Given the description of an element on the screen output the (x, y) to click on. 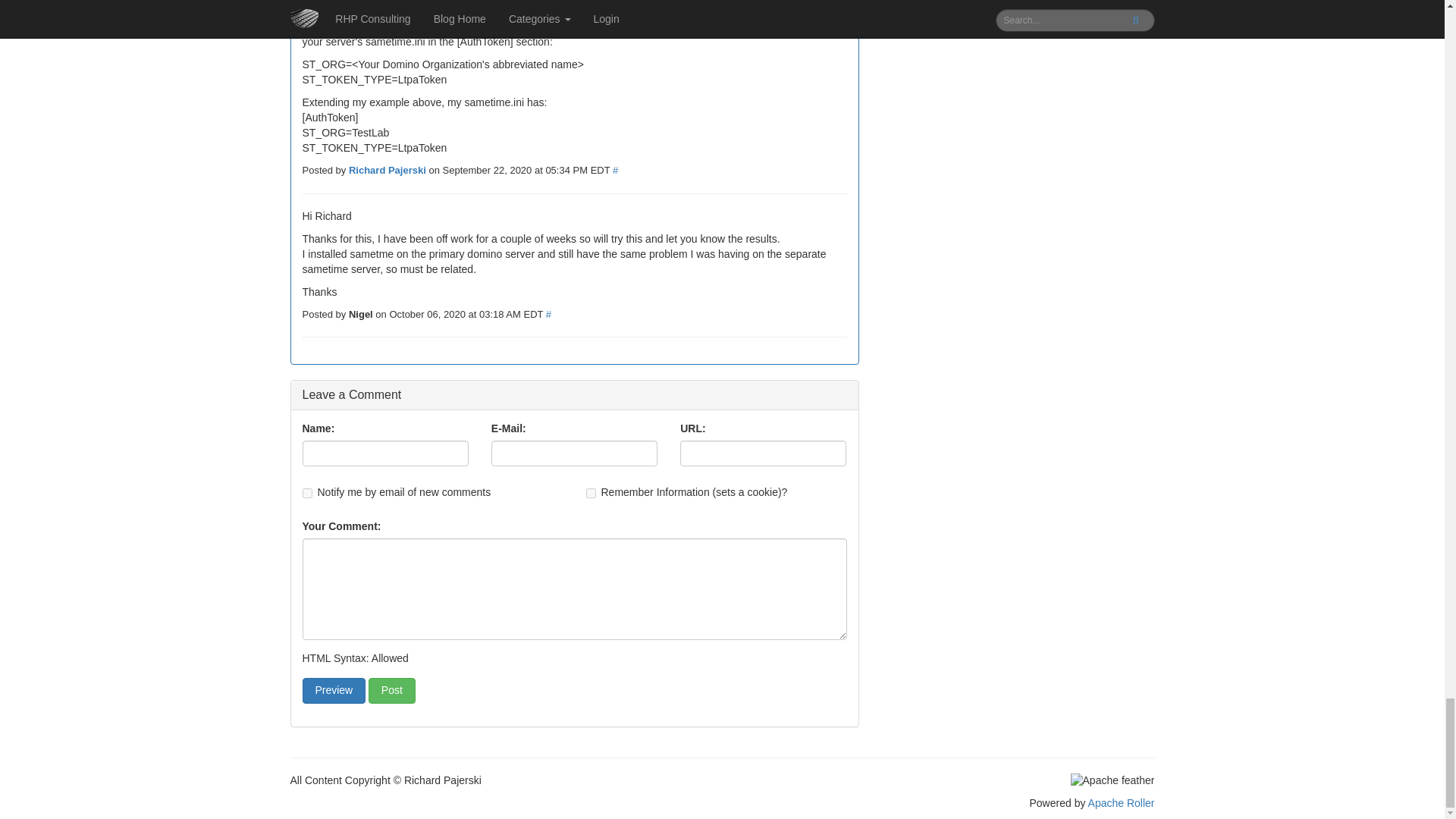
on (590, 492)
on (306, 492)
